Given the description of an element on the screen output the (x, y) to click on. 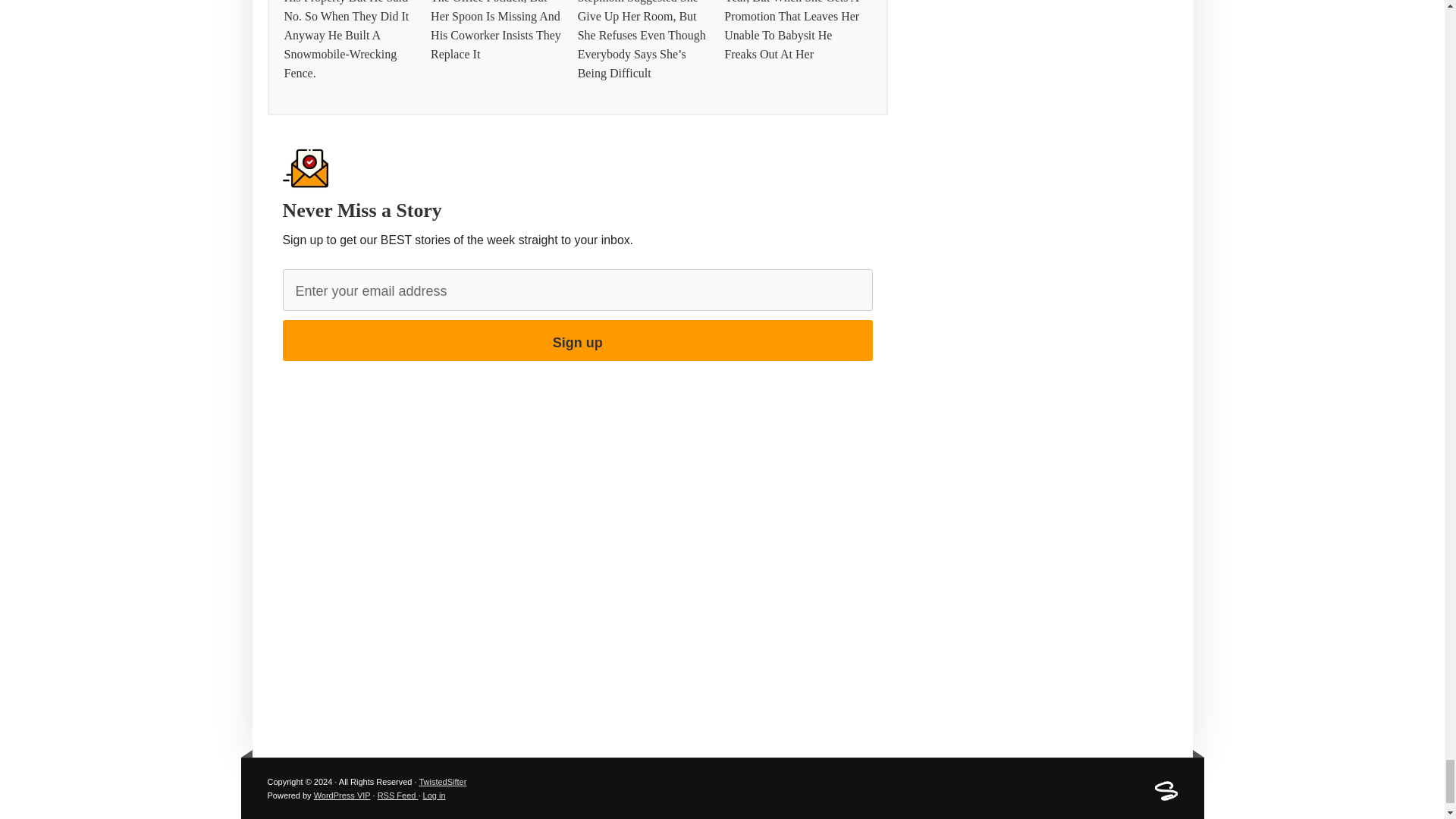
Sign up (577, 340)
